Given the description of an element on the screen output the (x, y) to click on. 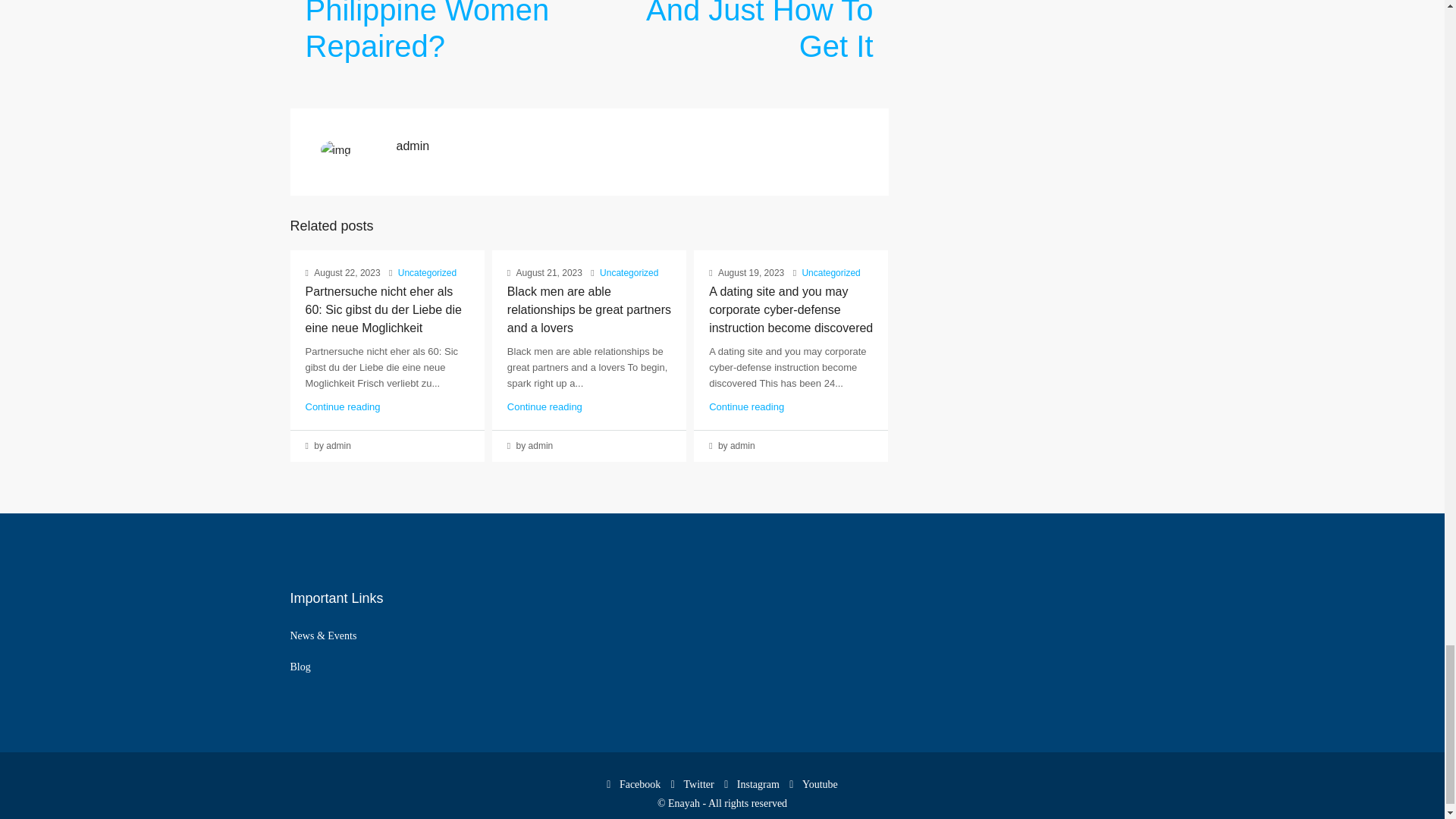
The Fight Over Swedish Woman And Just How To Get It (744, 32)
In The Event You Get Your Philippine Women Repaired? (433, 32)
Uncategorized (427, 272)
Uncategorized (628, 272)
Continue reading (342, 406)
